Given the description of an element on the screen output the (x, y) to click on. 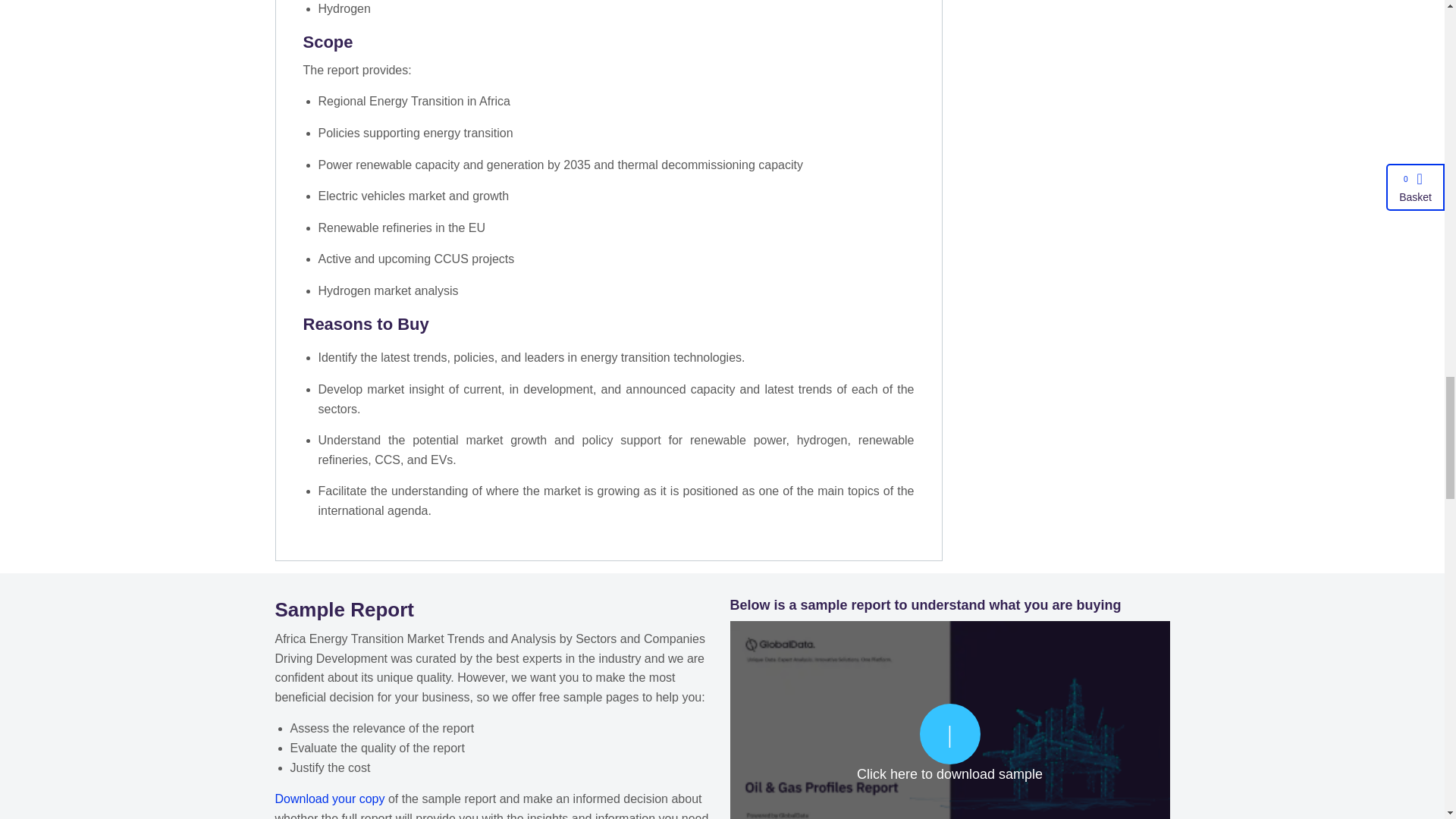
download (329, 798)
download (949, 742)
